Given the description of an element on the screen output the (x, y) to click on. 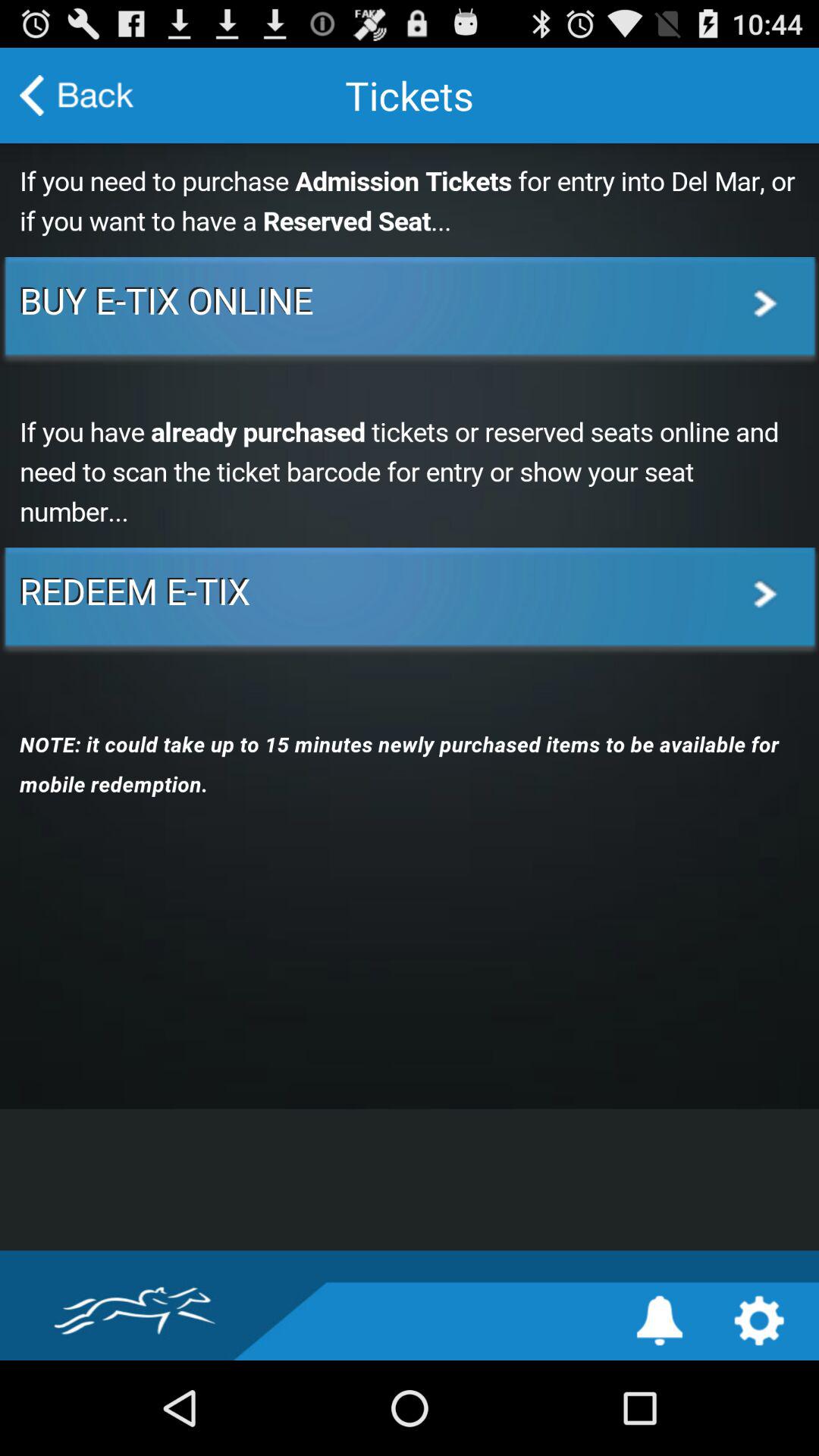
setting box (759, 1320)
